Given the description of an element on the screen output the (x, y) to click on. 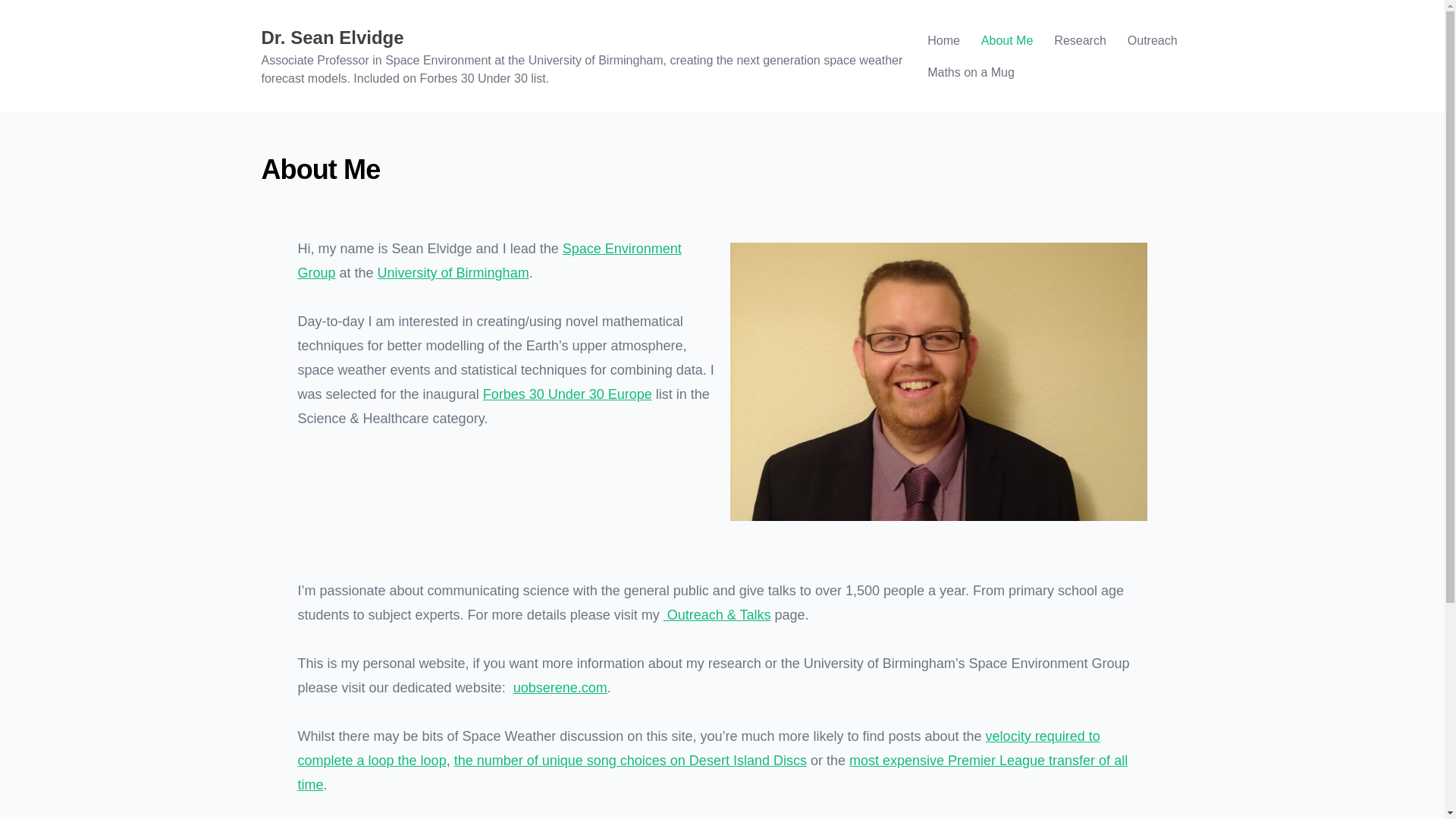
Forbes 30 Under 30 Europe (567, 394)
Research (1079, 40)
Outreach (1152, 40)
Space Environment Group (489, 260)
most expensive Premier League transfer of all time (711, 772)
velocity required to complete a loop the loop (698, 748)
uobserene.com (560, 687)
University of Birmingham (453, 272)
Dr. Sean Elvidge (331, 37)
Home (944, 40)
